Given the description of an element on the screen output the (x, y) to click on. 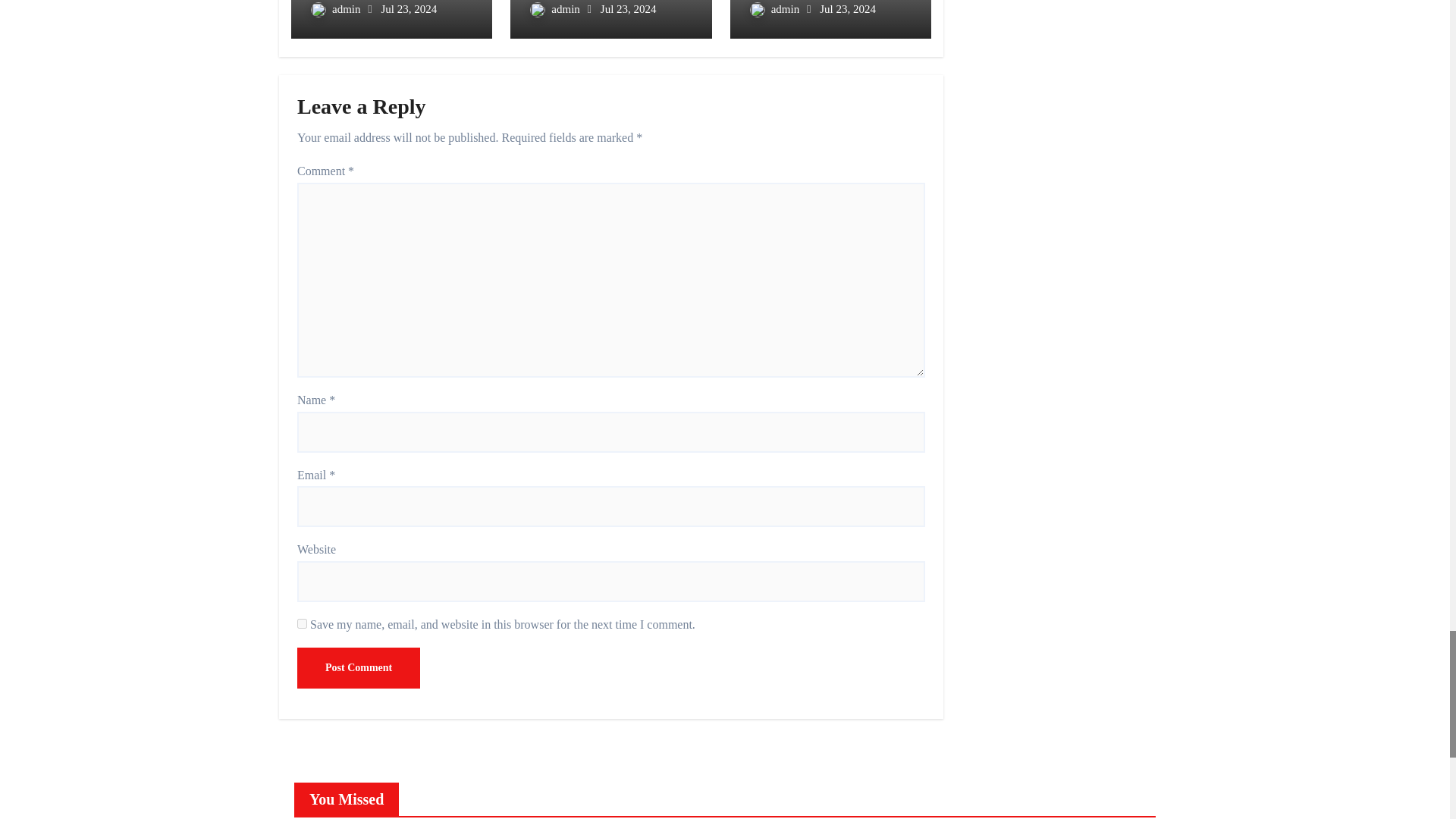
yes (302, 623)
Post Comment (358, 667)
